Given the description of an element on the screen output the (x, y) to click on. 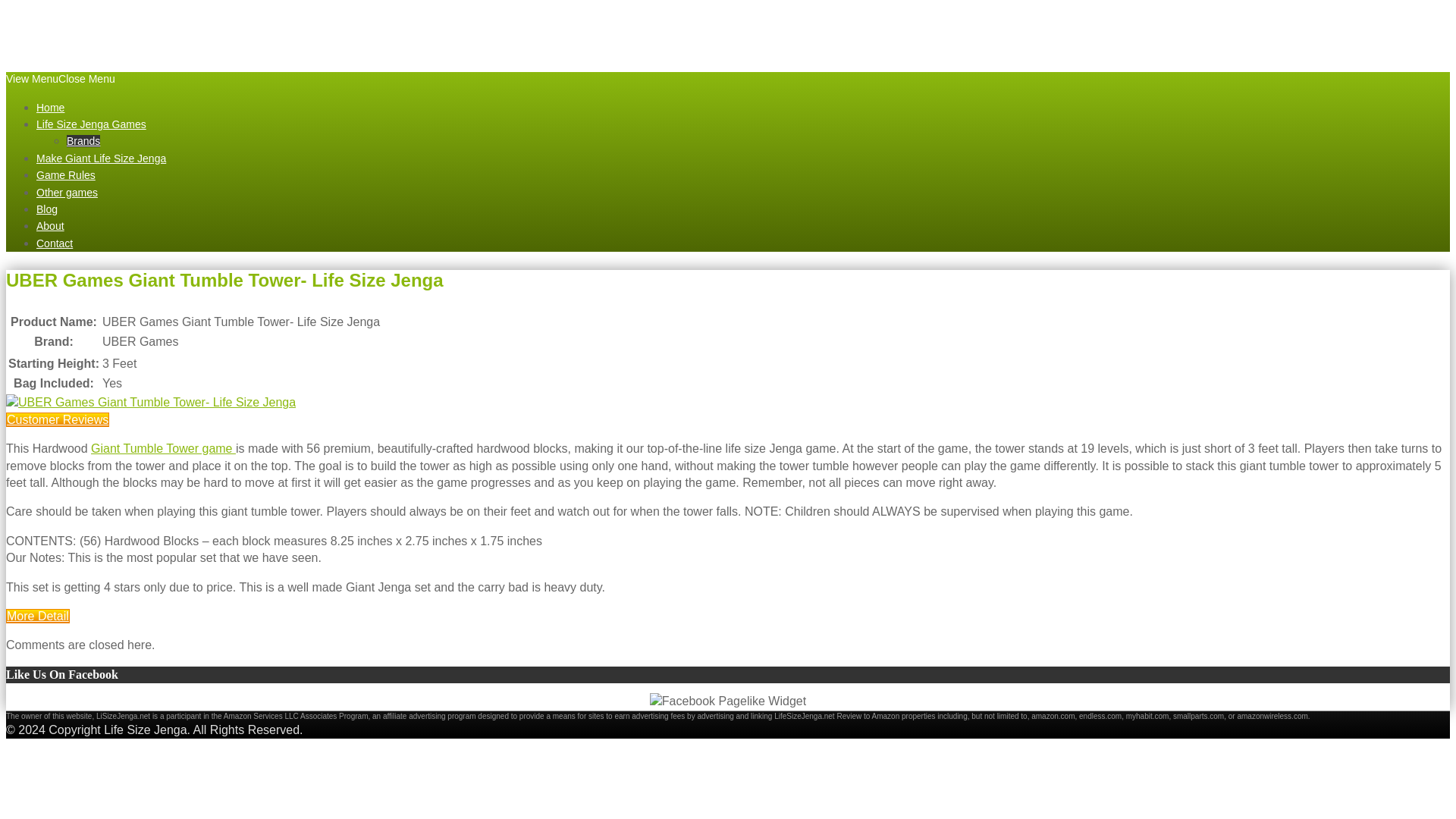
Life Size Jenga (117, 24)
Home (50, 107)
Giant Tumble Tower game (162, 448)
More Detail (37, 616)
Life Size Jenga Games (91, 123)
Brands (83, 141)
Blog (47, 209)
About (50, 225)
Customer Reviews (57, 419)
Make Giant Life Size Jenga (100, 158)
Game Rules (66, 174)
Contact (54, 243)
Other games (66, 192)
